Given the description of an element on the screen output the (x, y) to click on. 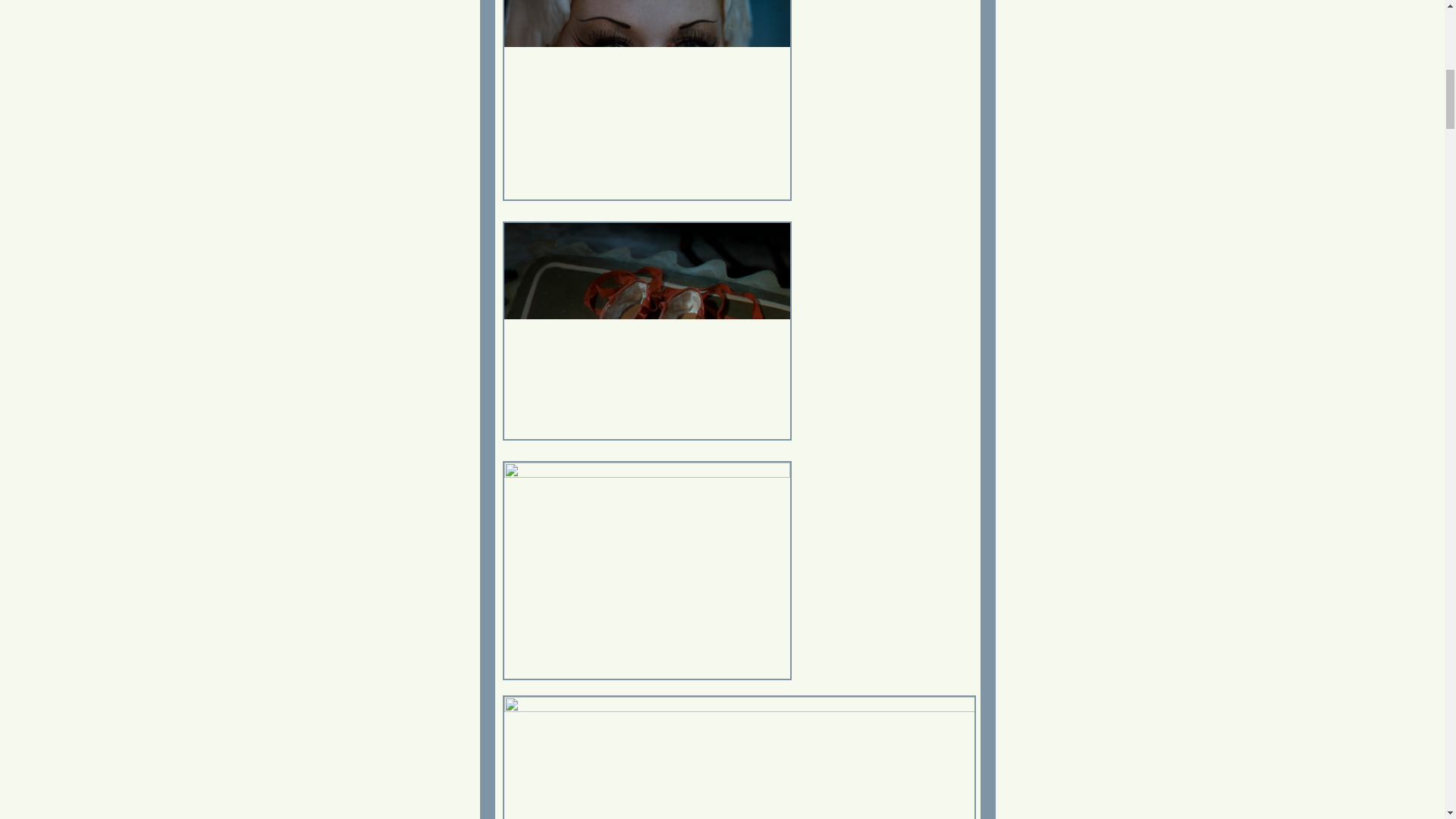
redshoes12 (646, 100)
redshoes1 (738, 757)
redshoes37 (646, 570)
redshoes28 (646, 331)
